Given the description of an element on the screen output the (x, y) to click on. 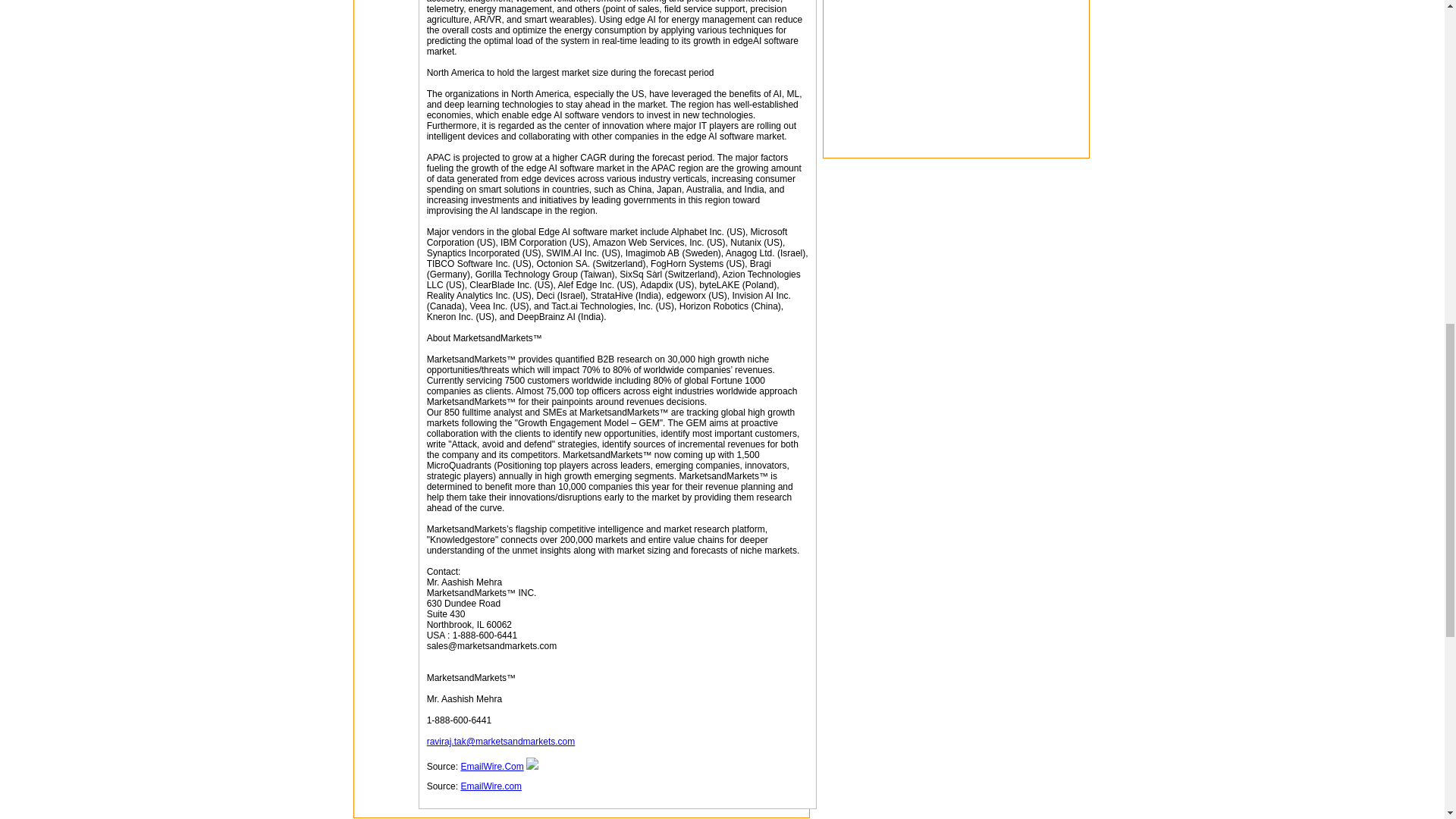
EmailWire.Com (491, 766)
EmailWire.com (490, 786)
